Given the description of an element on the screen output the (x, y) to click on. 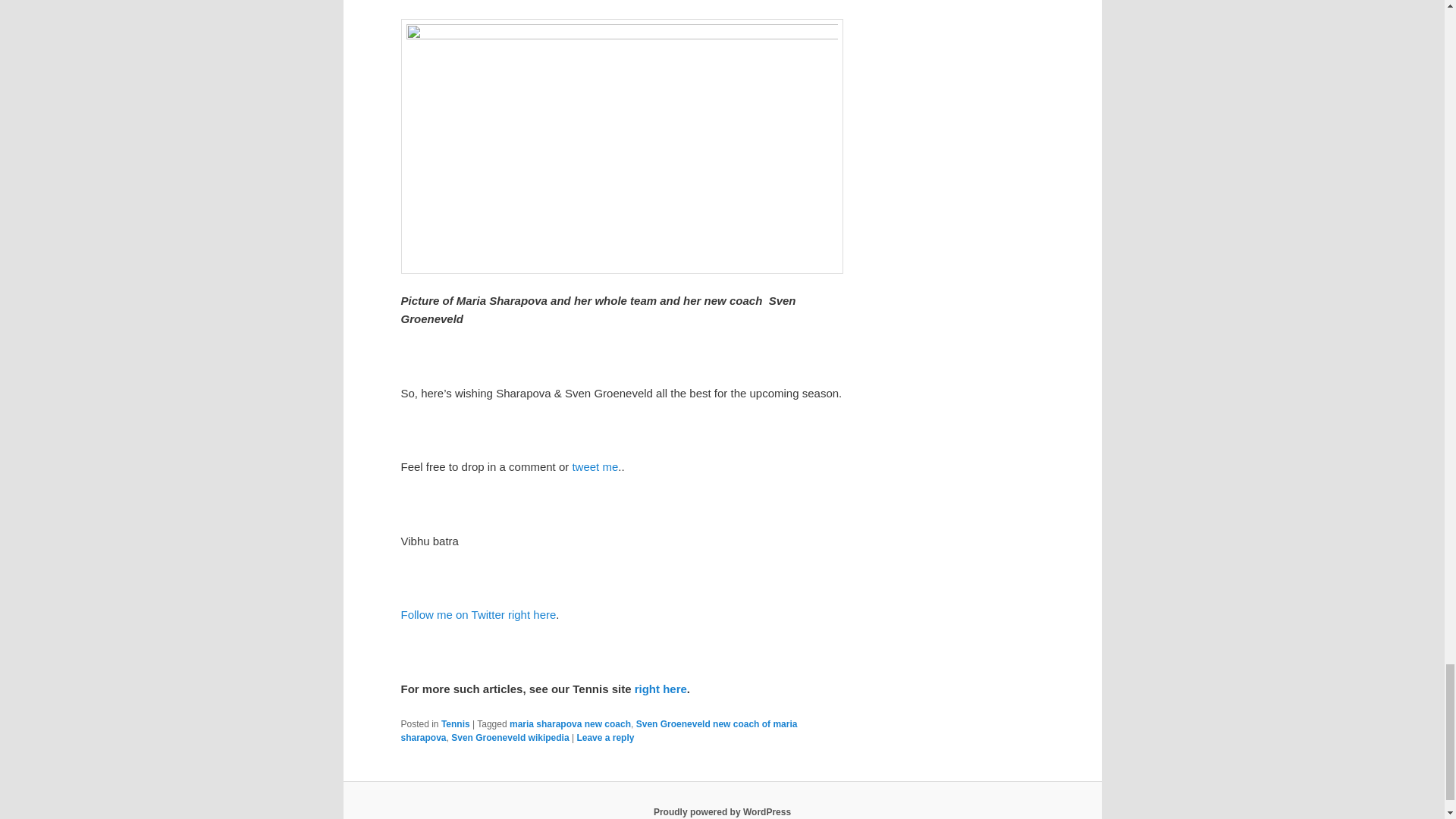
right here (660, 688)
Proudly powered by WordPress (721, 811)
tennis site (660, 688)
Twitter Vibhu (478, 614)
Semantic Personal Publishing Platform (721, 811)
Sven Groeneveld wikipedia (510, 737)
twitter vibhu (594, 466)
Tennis (455, 724)
tweet me (594, 466)
Sven Groeneveld new coach of maria sharapova (598, 730)
Maria Sharapova and Sven Groeneveld (621, 145)
Leave a reply (604, 737)
maria sharapova new coach (569, 724)
Follow me on Twitter right here (478, 614)
